Given the description of an element on the screen output the (x, y) to click on. 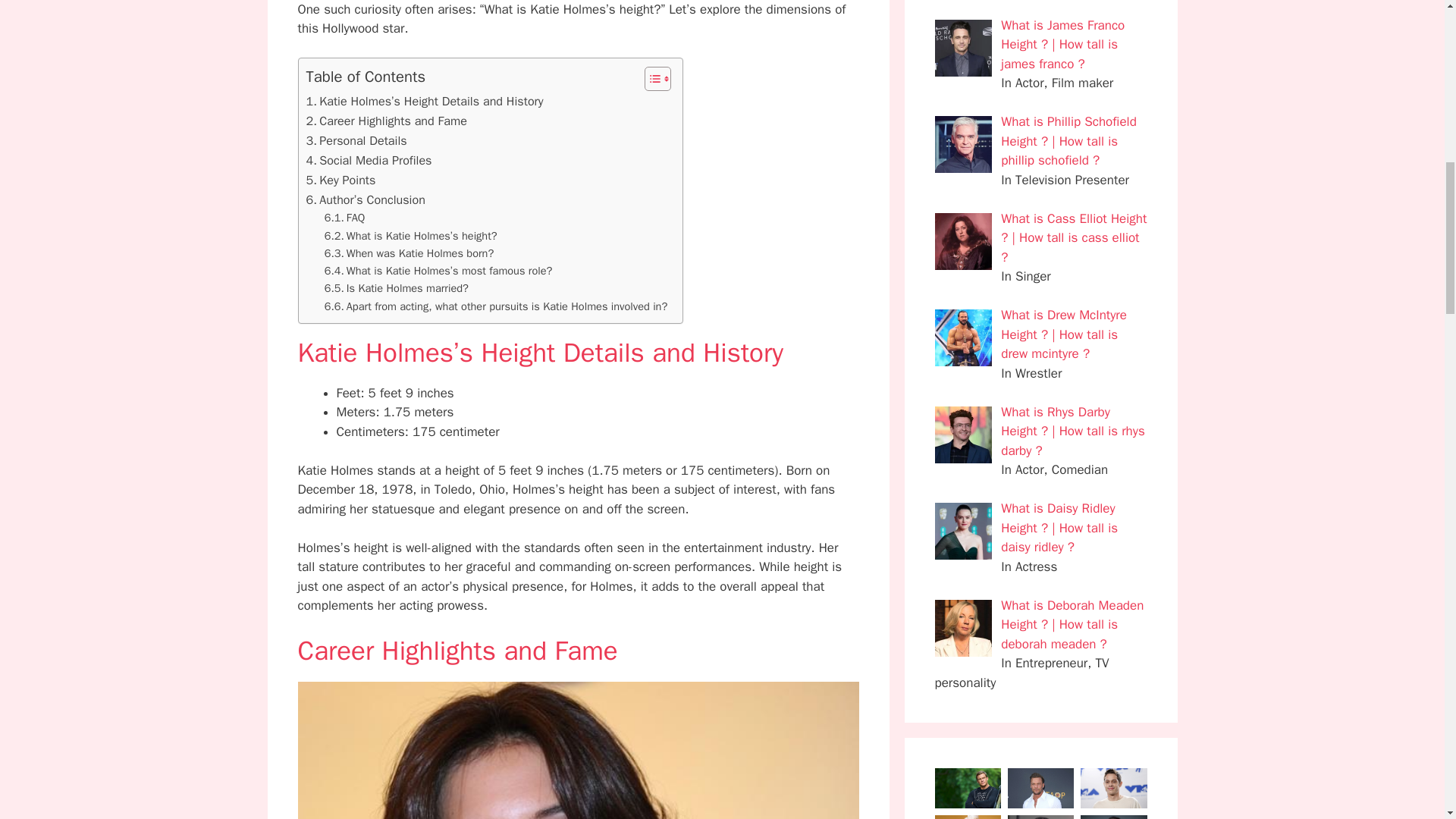
Career Highlights and Fame (386, 121)
Social Media Profiles (368, 160)
Key Points (340, 180)
Personal Details (356, 140)
